Given the description of an element on the screen output the (x, y) to click on. 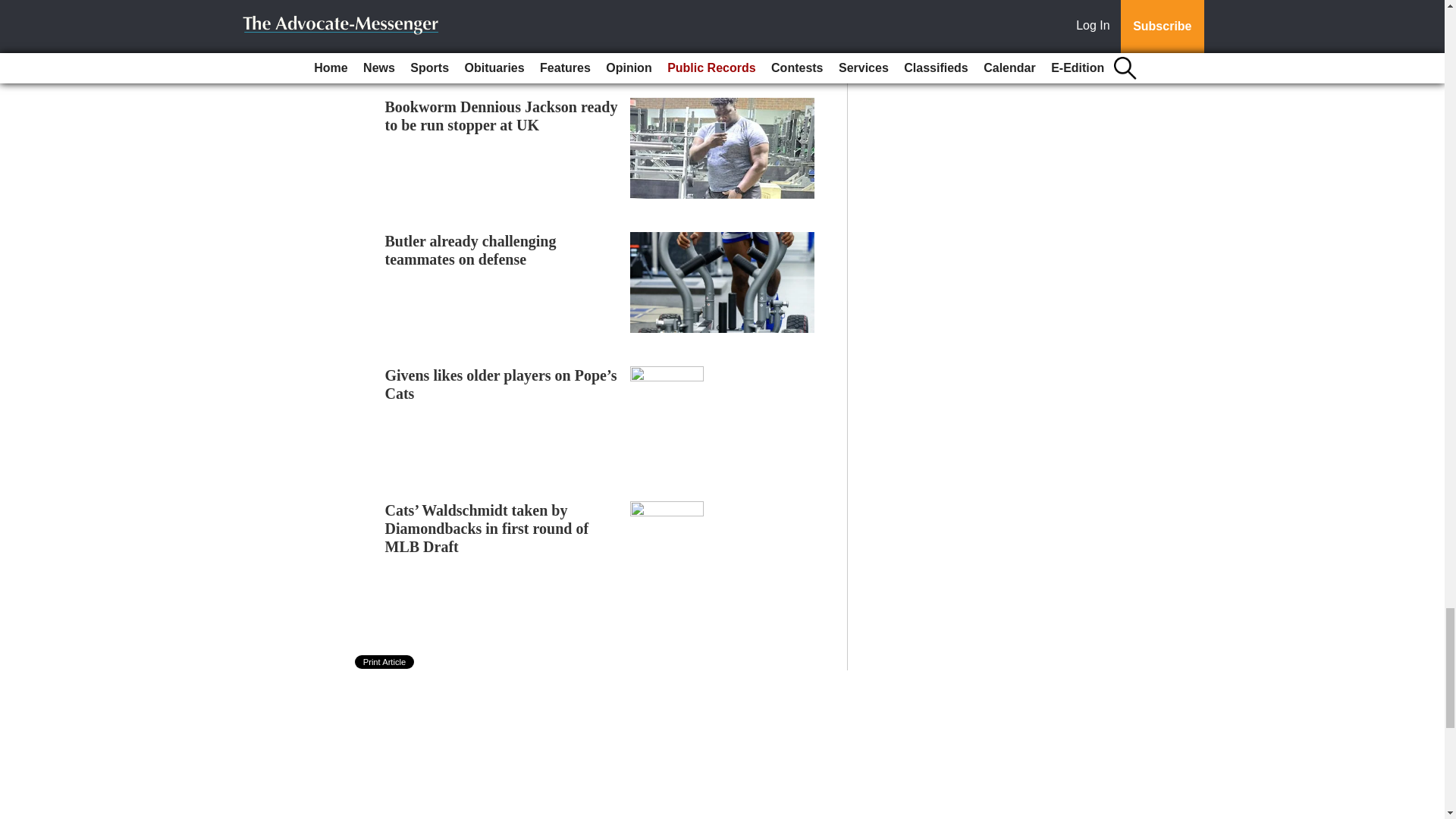
Bookworm Dennious Jackson ready to be run stopper at UK (501, 115)
Print Article (384, 662)
Bookworm Dennious Jackson ready to be run stopper at UK (501, 115)
Butler already challenging teammates on defense (470, 249)
Butler already challenging teammates on defense (470, 249)
